Given the description of an element on the screen output the (x, y) to click on. 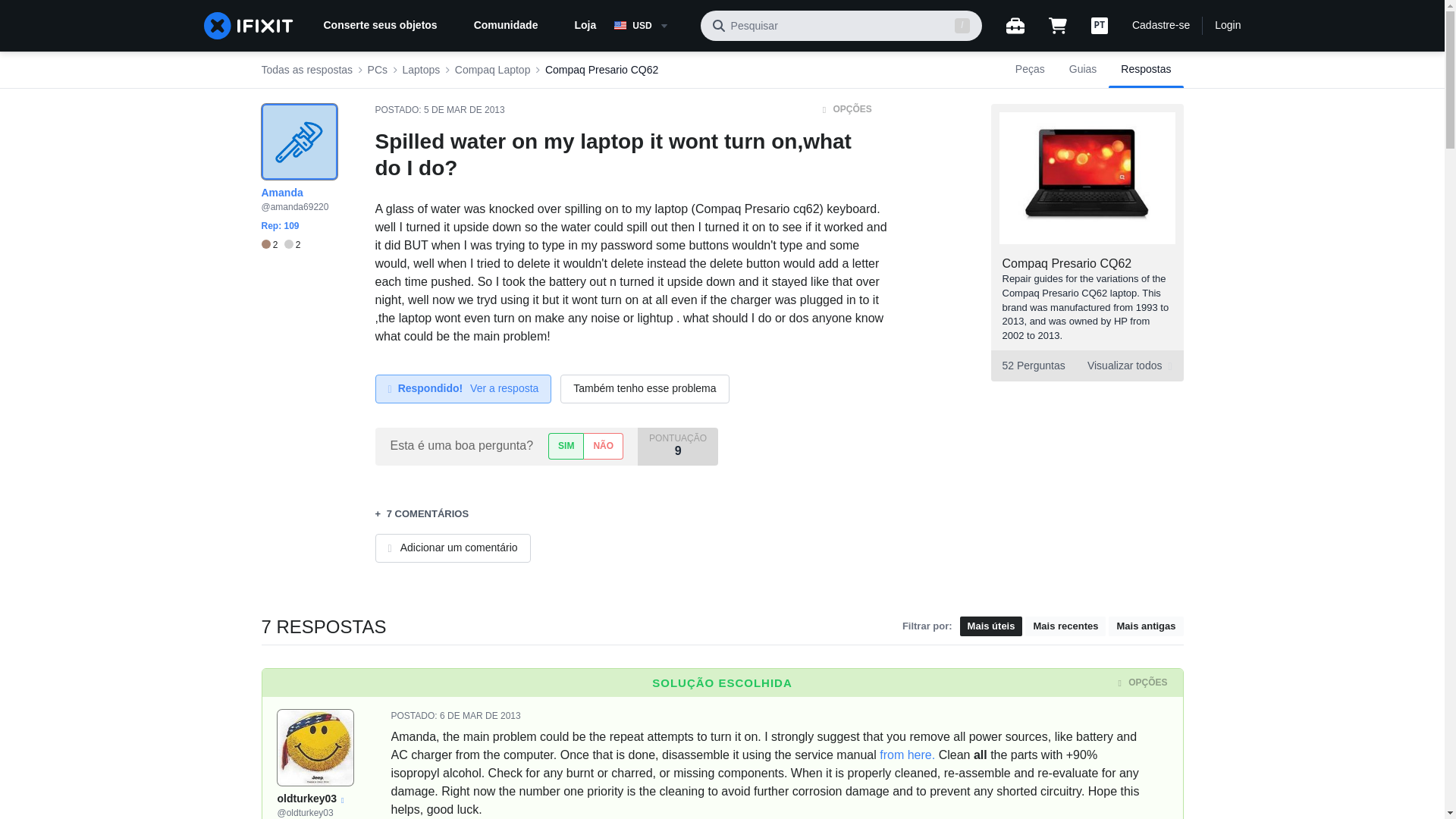
2 2 (279, 245)
Compaq Presario CQ62 (1067, 263)
2 emblemas de Bronze (271, 245)
Respondido! Ver a resposta (462, 388)
Cadastre-se (1160, 25)
Wed, 06 Mar 2013 04:39:31 -0700 (480, 715)
Login (1227, 25)
POSTADO: 5 DE MAR DE 2013 (438, 109)
Laptops (422, 69)
PCs (377, 69)
Tue, 05 Mar 2013 23:09:00 -0700 (464, 109)
2 emblemas de Prata (292, 245)
Compaq Laptop (1086, 365)
Respostas (492, 69)
